Given the description of an element on the screen output the (x, y) to click on. 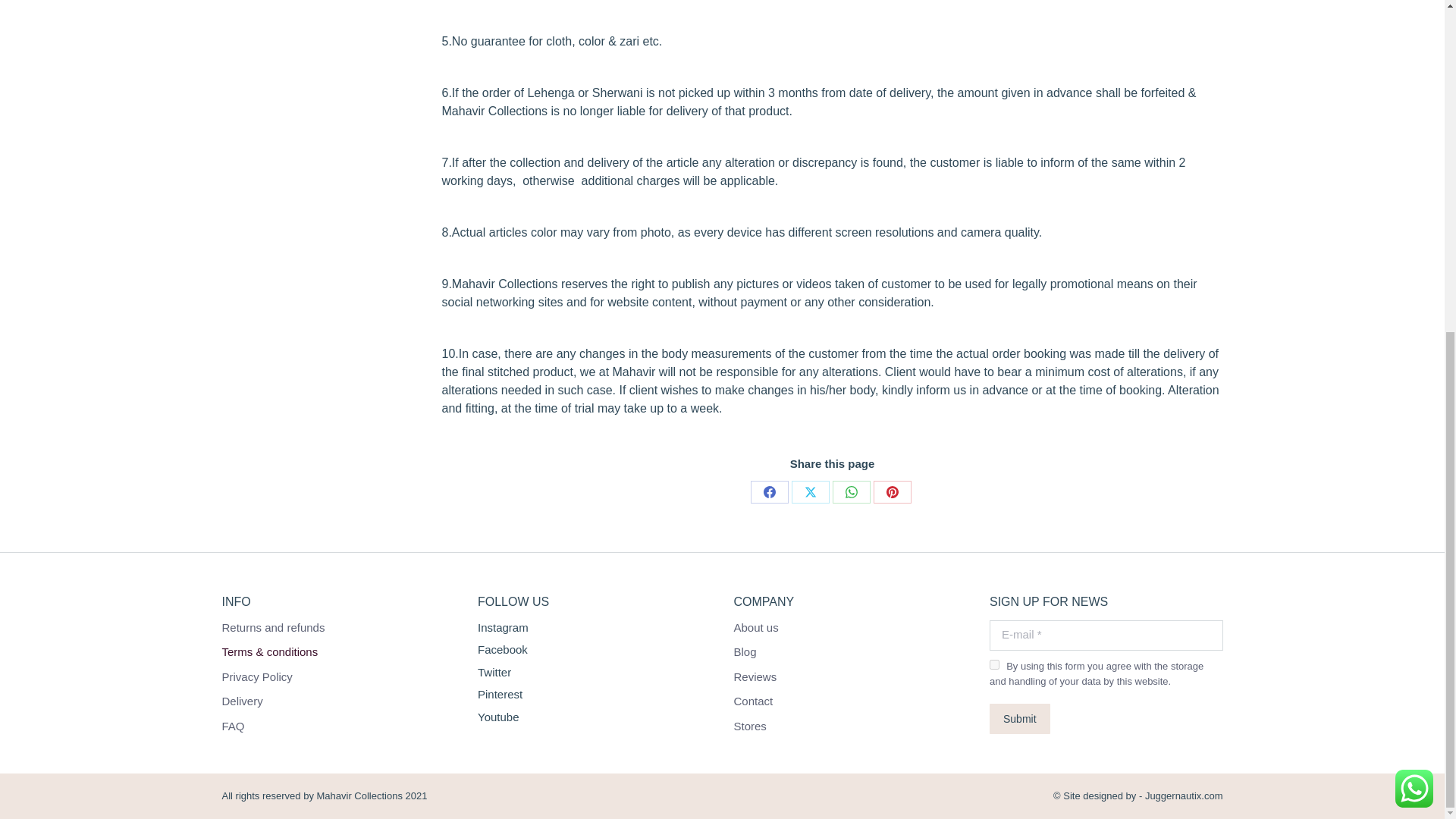
Facebook (770, 491)
WhatsApp (851, 491)
on (994, 664)
Pinterest (892, 491)
X (810, 491)
submit (1088, 720)
